Given the description of an element on the screen output the (x, y) to click on. 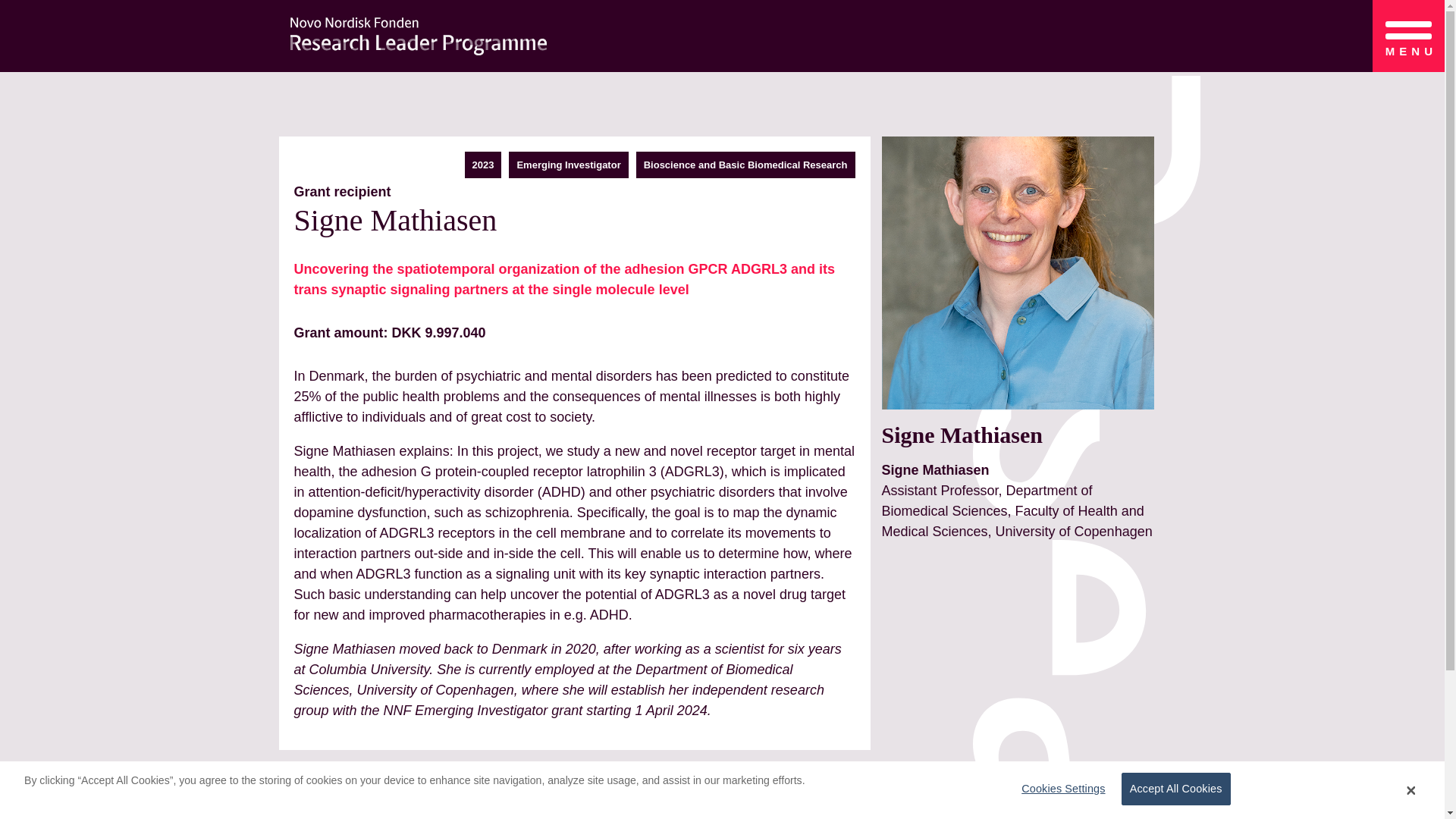
Accept All Cookies (1175, 789)
Cookies Settings (1058, 788)
Bioscience and Basic Biomedical Research (745, 164)
Emerging Investigator (568, 164)
2023 (483, 164)
